Given the description of an element on the screen output the (x, y) to click on. 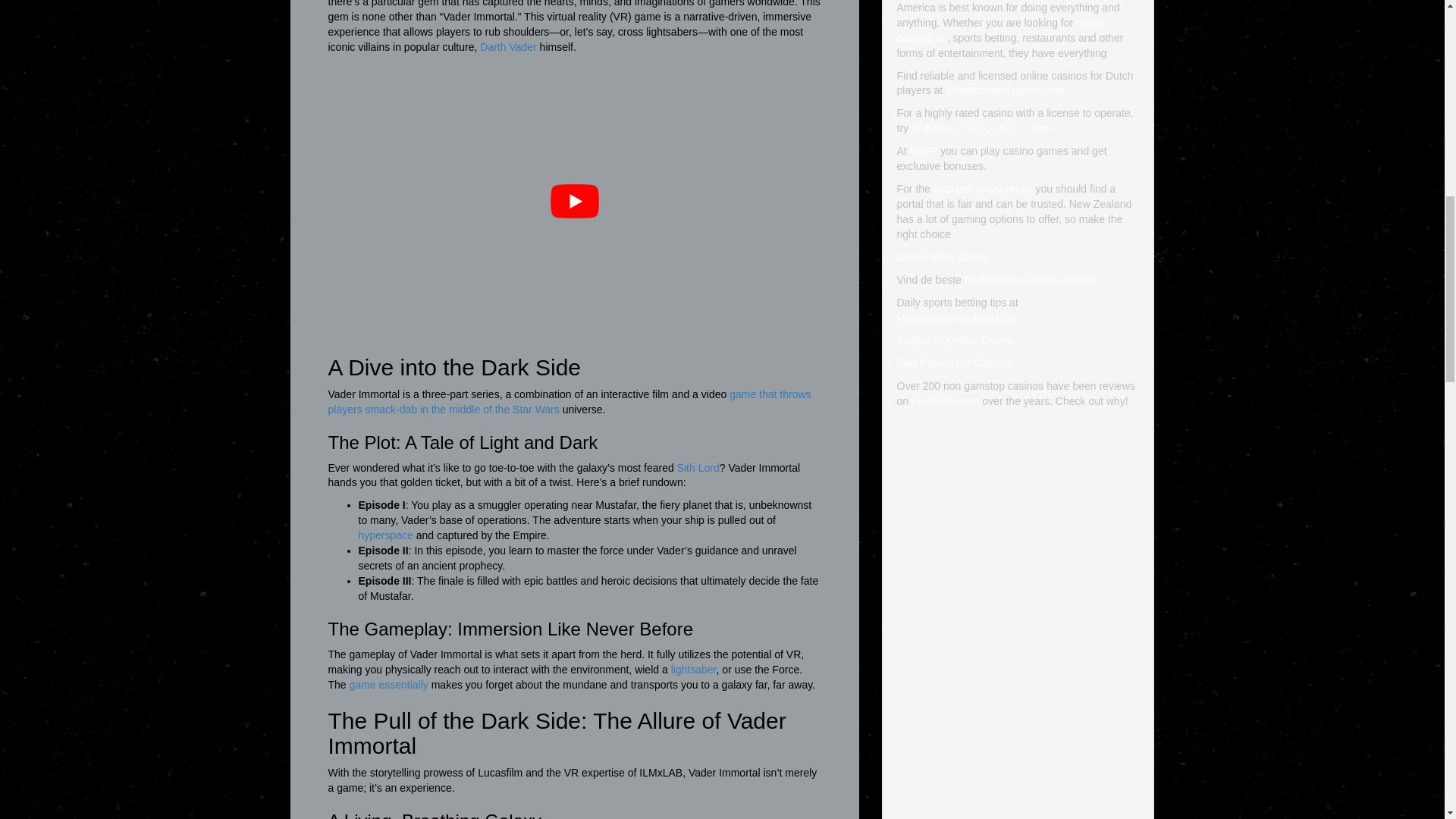
hyperspace (385, 535)
lightsaber (693, 669)
